Given the description of an element on the screen output the (x, y) to click on. 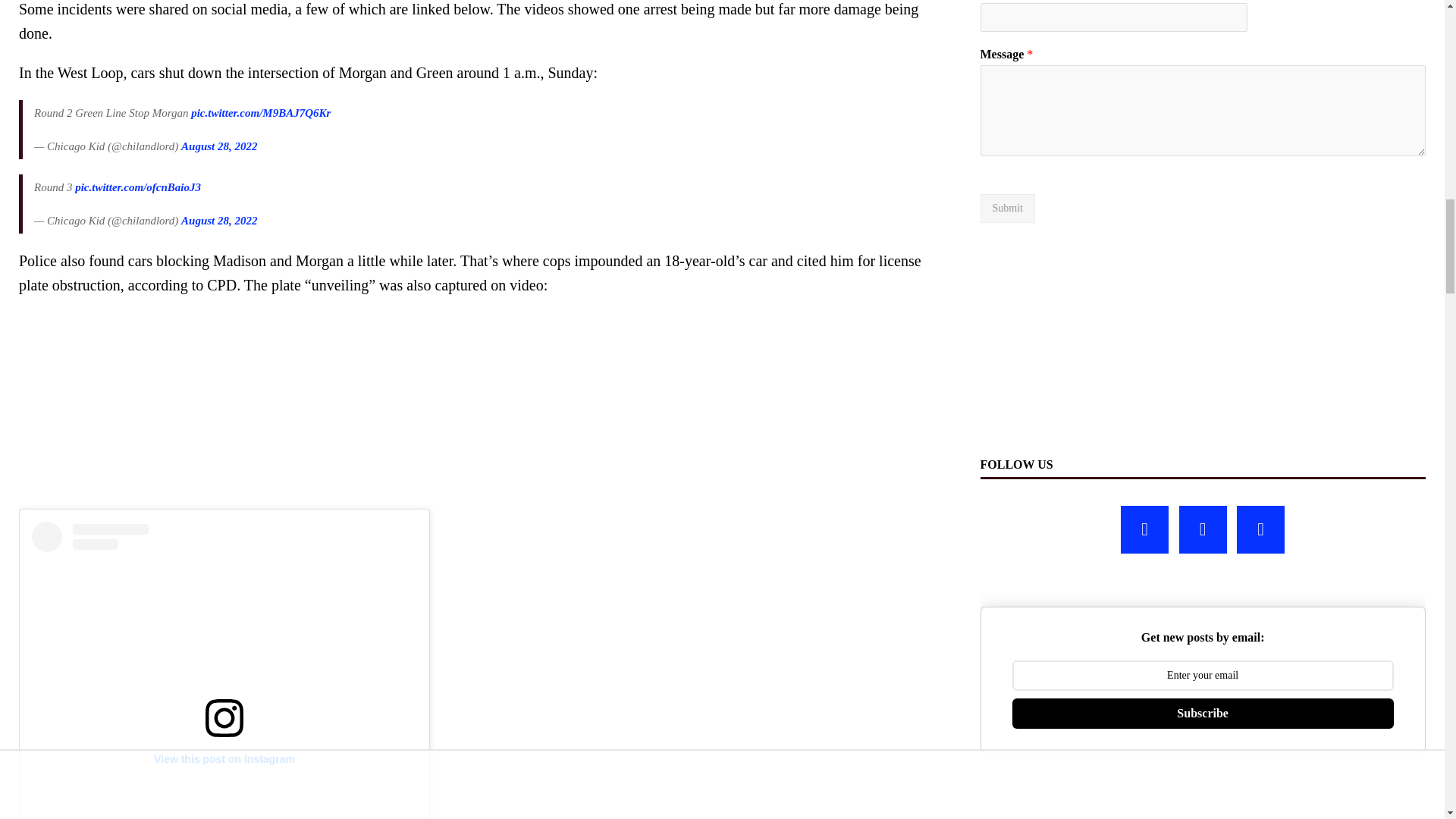
August 28, 2022 (218, 146)
August 28, 2022 (218, 220)
View this post on Instagram (224, 670)
